Given the description of an element on the screen output the (x, y) to click on. 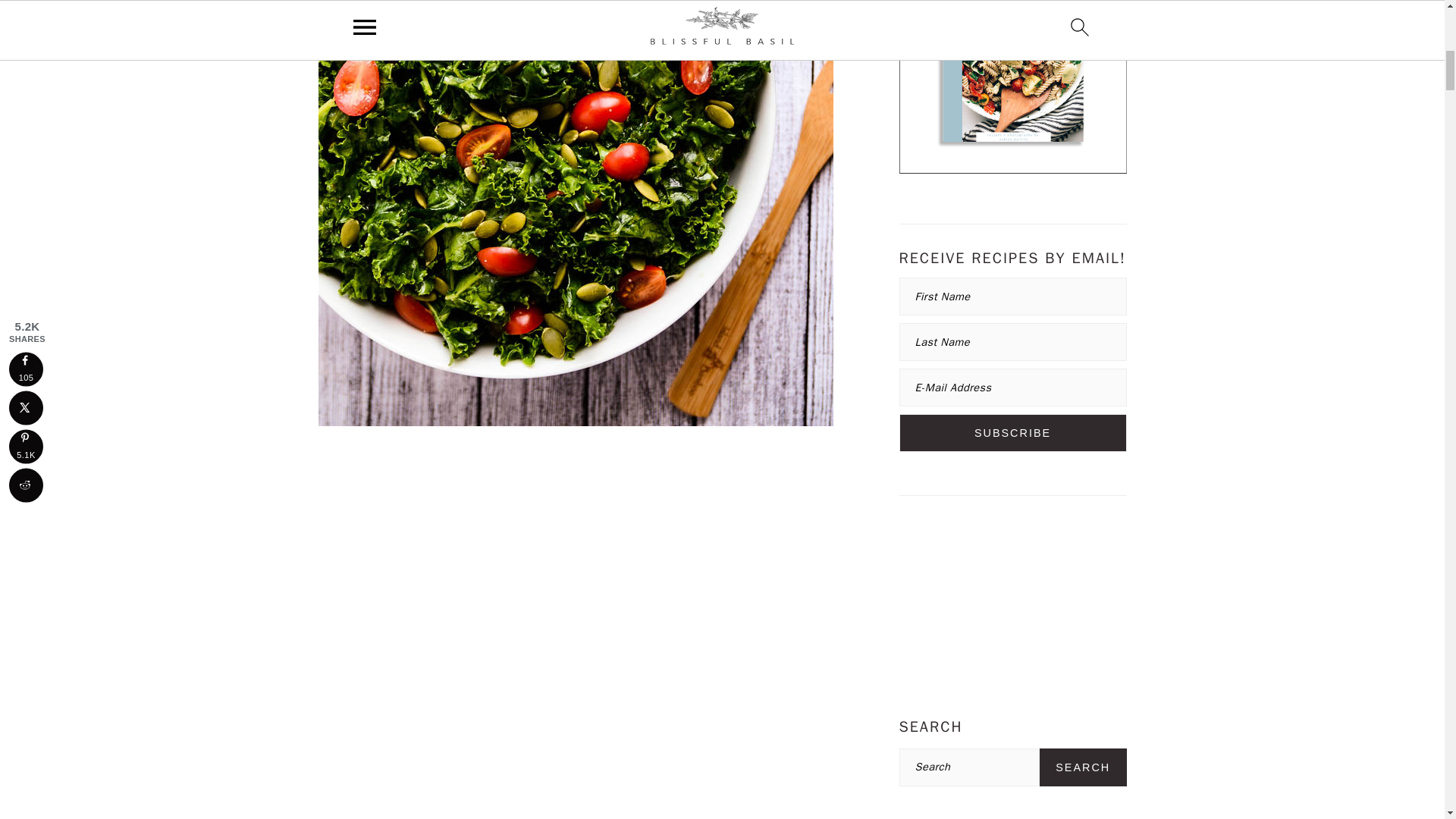
Search (1082, 767)
Search (1082, 767)
Subscribe (1012, 433)
